Given the description of an element on the screen output the (x, y) to click on. 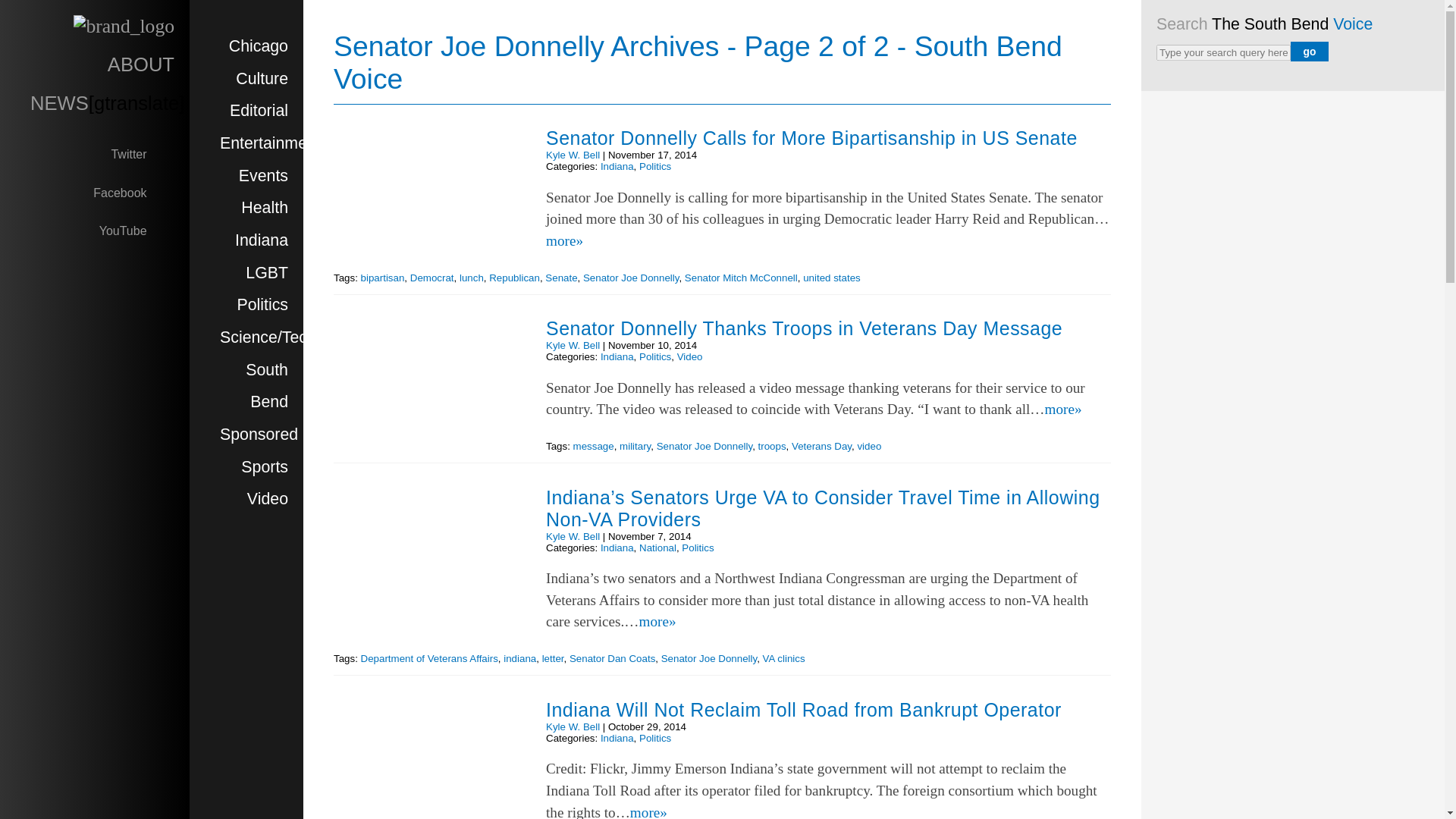
Posts by Kyle W. Bell (572, 345)
Chicago (258, 45)
Politics (655, 165)
Indiana (616, 165)
Entertainment (269, 143)
Senator Donnelly Calls for More Bipartisanship in US Senate (811, 137)
Culture (261, 78)
Democrat (432, 277)
Health (264, 208)
bipartisan (382, 277)
Video (267, 498)
Kyle W. Bell (572, 154)
Politics (261, 304)
go (1308, 51)
go (1308, 51)
